Given the description of an element on the screen output the (x, y) to click on. 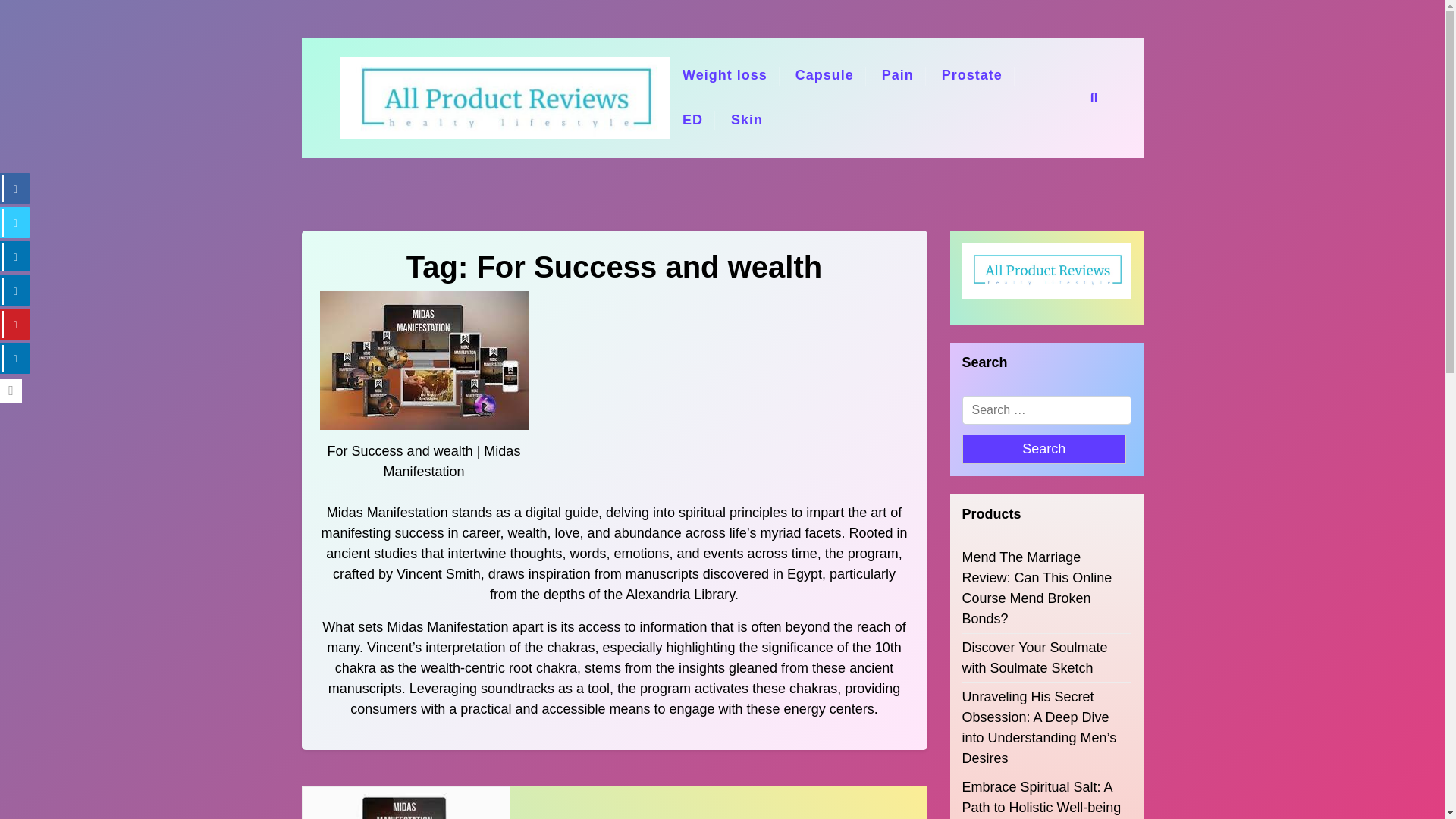
Search (1042, 449)
ED (691, 119)
Facebook  (15, 187)
Capsule (824, 75)
Search (1026, 409)
Pain (897, 75)
Discover Your Soulmate with Soulmate Sketch (1045, 658)
Weight loss (723, 75)
Embrace Spiritual Salt: A Path to Holistic Well-being (1045, 797)
